Given the description of an element on the screen output the (x, y) to click on. 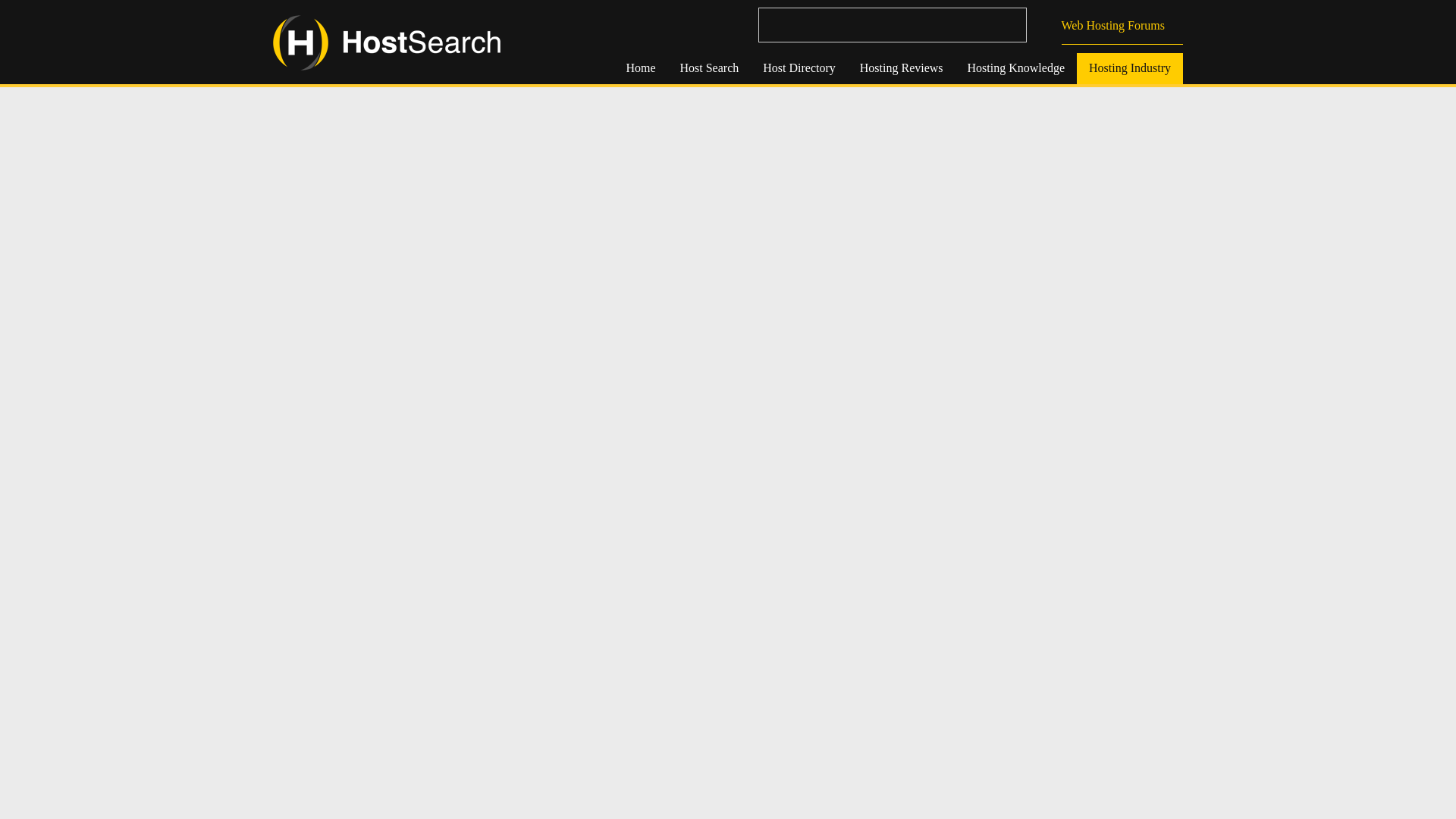
Hosting Knowledge (1016, 68)
Web Hosting Forums (1122, 26)
Host Directory (799, 68)
Search for hosting providers and more... (892, 24)
Hosting Industry (1129, 68)
Home (639, 68)
Host Search (708, 68)
Hosting Reviews (901, 68)
